Given the description of an element on the screen output the (x, y) to click on. 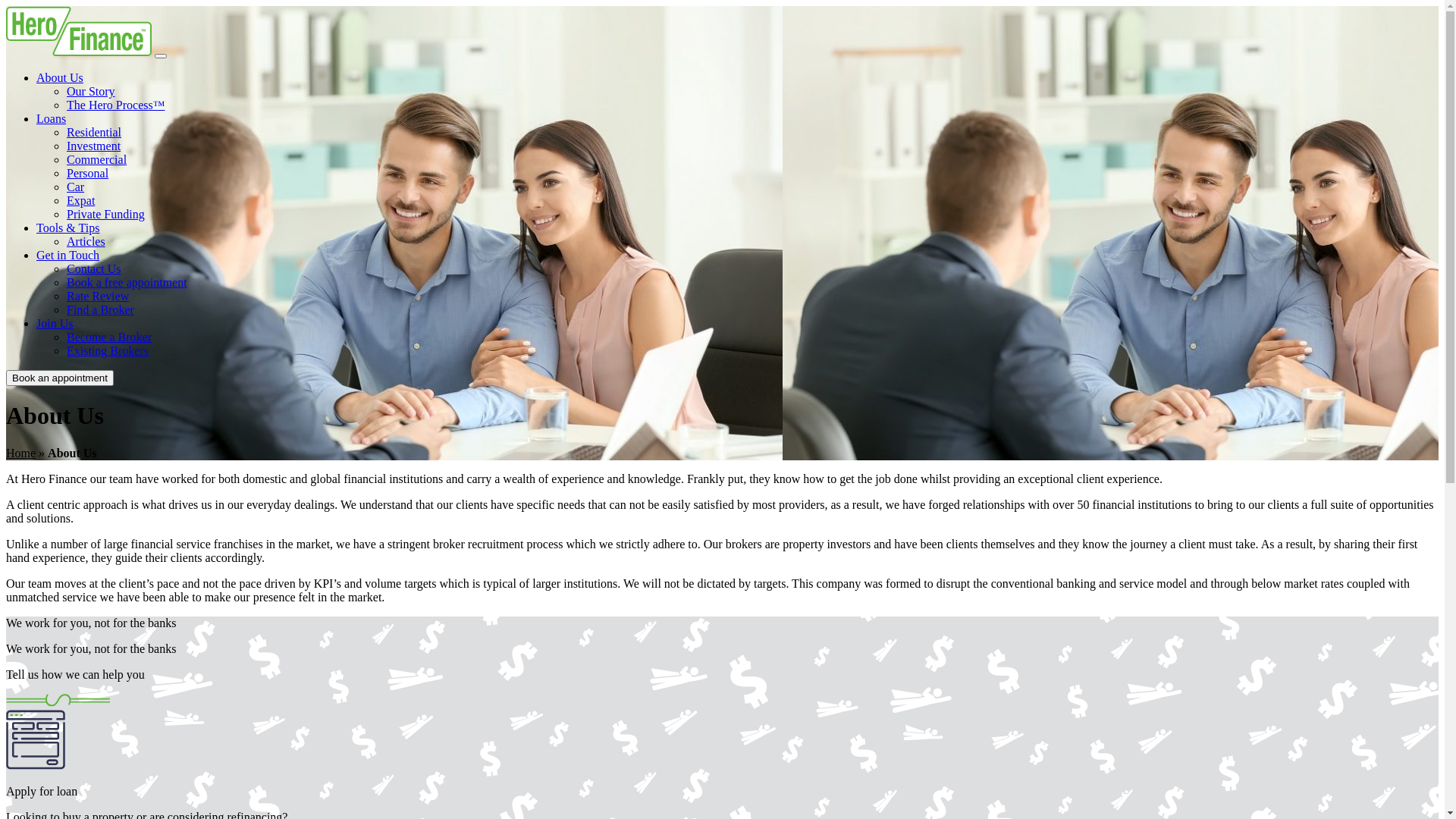
Existing Brokers Element type: text (107, 350)
Articles Element type: text (85, 241)
About Us Element type: text (59, 77)
Join Us Element type: text (54, 322)
Expat Element type: text (80, 200)
Private Funding Element type: text (105, 213)
Car Element type: text (75, 186)
Personal Element type: text (87, 172)
Investment Element type: text (93, 145)
Rate Review Element type: text (97, 295)
Tools & Tips Element type: text (67, 227)
Get in Touch Element type: text (67, 254)
Become a Broker Element type: text (108, 336)
Home Element type: text (20, 452)
Book a free appointment Element type: text (126, 282)
Find a Broker Element type: text (100, 309)
Contact Us Element type: text (93, 268)
Loans Element type: text (50, 118)
Our Story Element type: text (90, 90)
Residential Element type: text (93, 131)
Commercial Element type: text (96, 159)
